Given the description of an element on the screen output the (x, y) to click on. 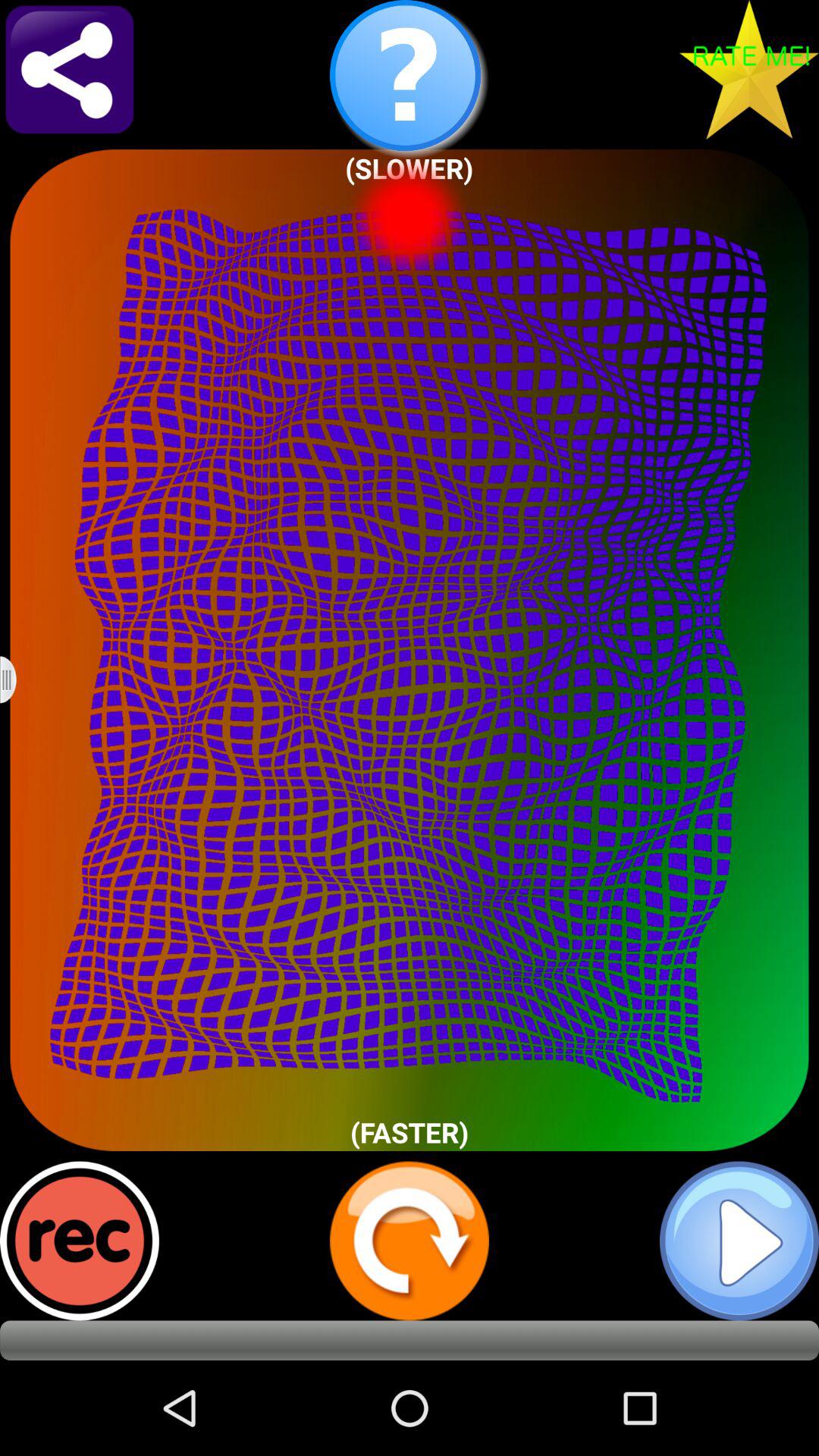
record button (79, 1240)
